Given the description of an element on the screen output the (x, y) to click on. 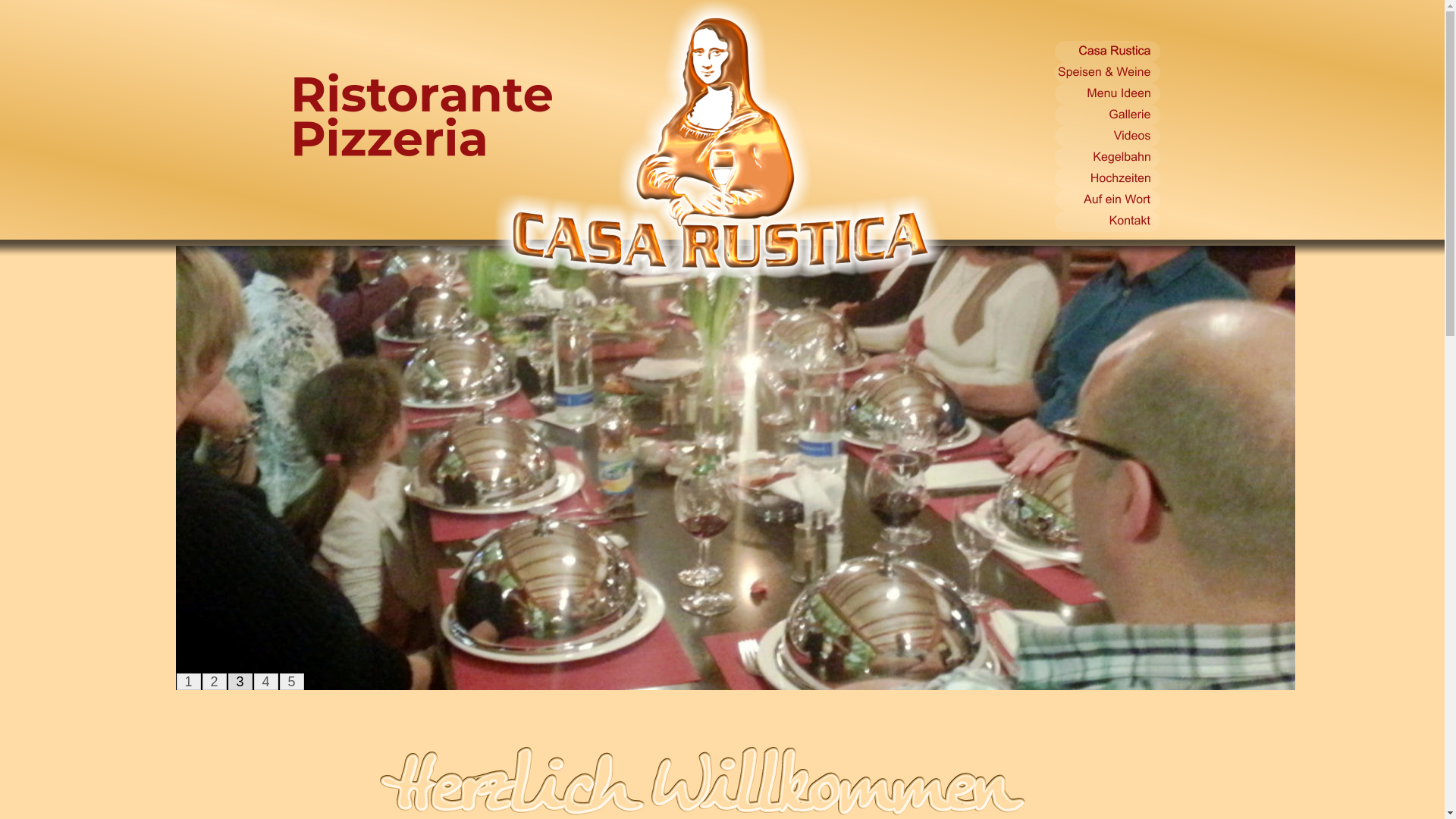
4 Element type: text (266, 681)
5 Element type: text (291, 681)
2 Element type: text (214, 681)
3 Element type: text (240, 681)
1 Element type: text (187, 681)
